Given the description of an element on the screen output the (x, y) to click on. 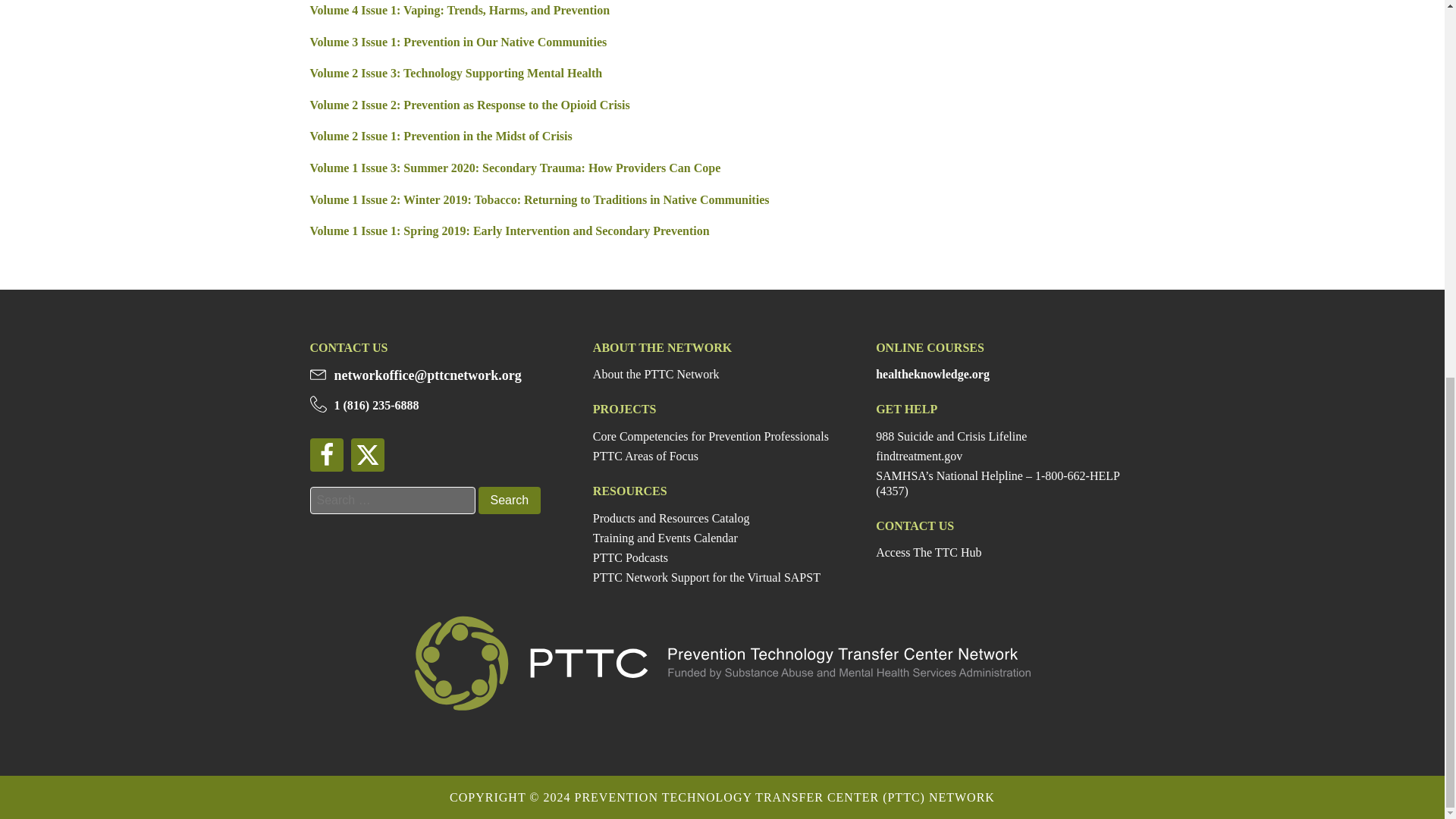
Search (508, 500)
Search (508, 500)
